Given the description of an element on the screen output the (x, y) to click on. 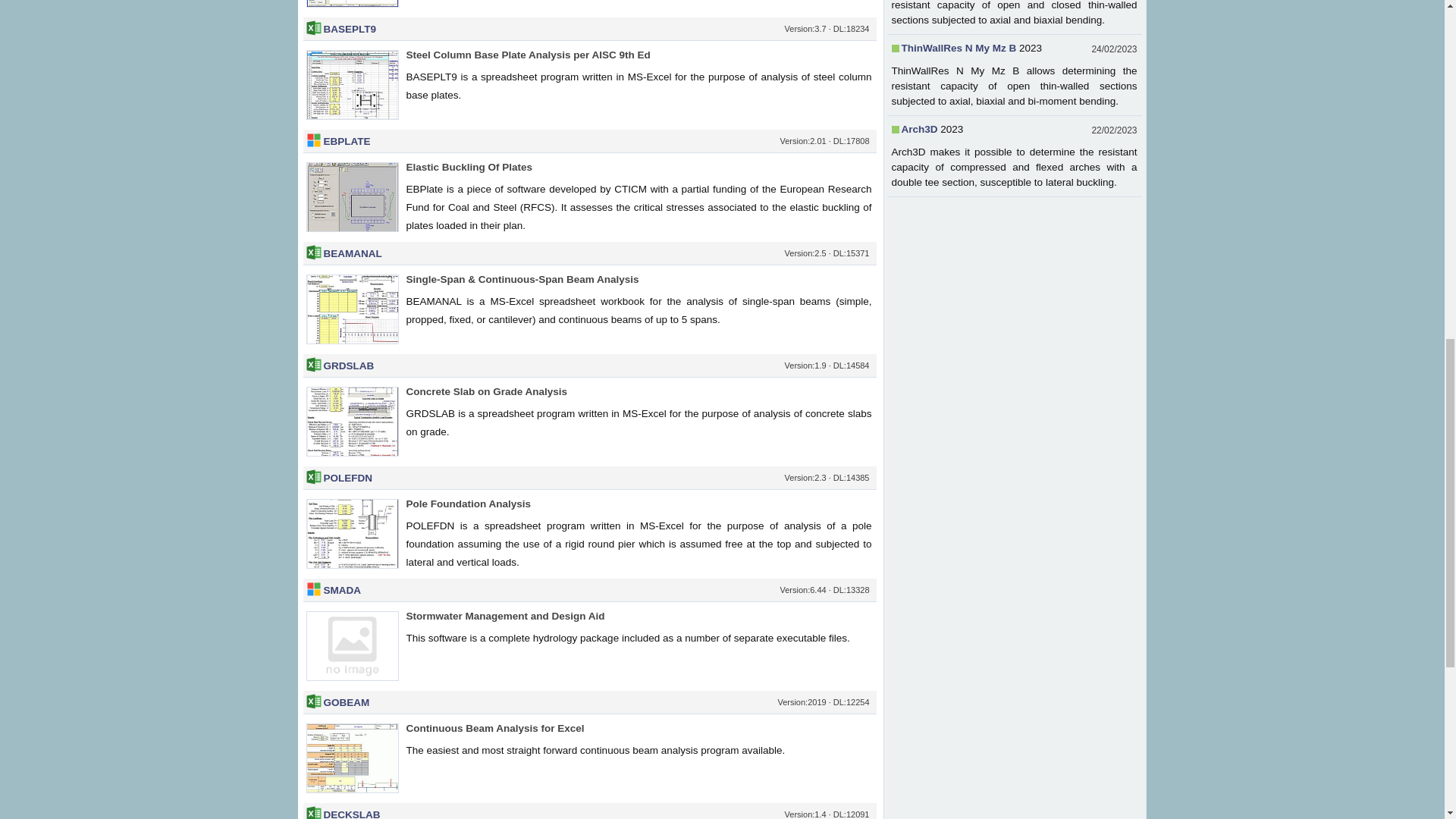
EBPLATE (346, 141)
Concrete Slab on Grade Analysis (486, 391)
Elastic Buckling Of Plates (469, 166)
POLEFDN (347, 478)
GRDSLAB (348, 365)
BASEPLT9 (349, 29)
Steel Column Base Plate Analysis per AISC 9th Ed (528, 54)
BEAMANAL (352, 253)
